Given the description of an element on the screen output the (x, y) to click on. 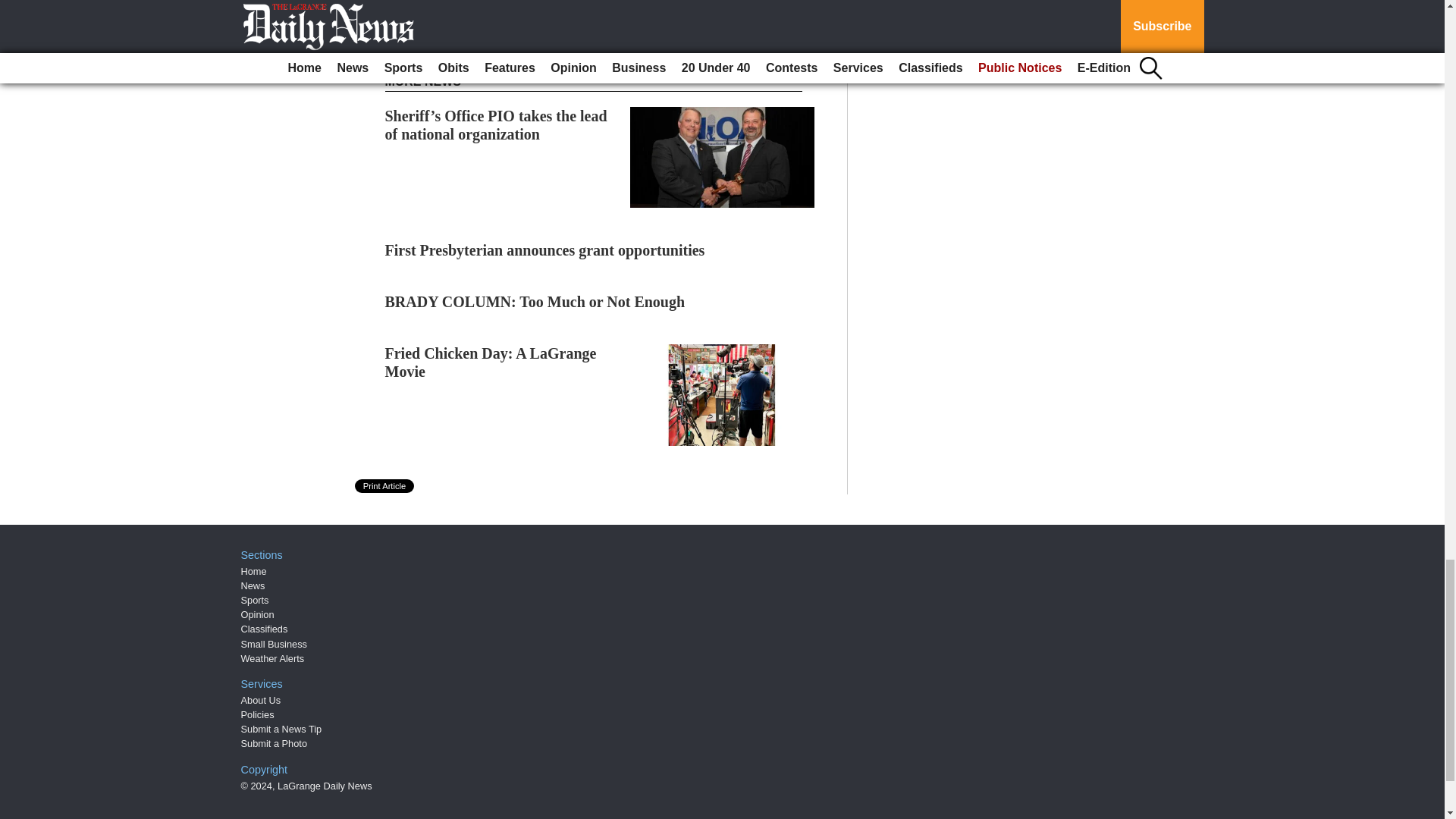
BRADY COLUMN: Too Much or Not Enough (535, 301)
Fried Chicken Day: A LaGrange Movie (490, 362)
Home (253, 571)
Fried Chicken Day: A LaGrange Movie (490, 362)
First Presbyterian announces grant opportunities (544, 249)
First Presbyterian announces grant opportunities (544, 249)
News (252, 585)
Print Article (384, 486)
BRADY COLUMN: Too Much or Not Enough (535, 301)
